Given the description of an element on the screen output the (x, y) to click on. 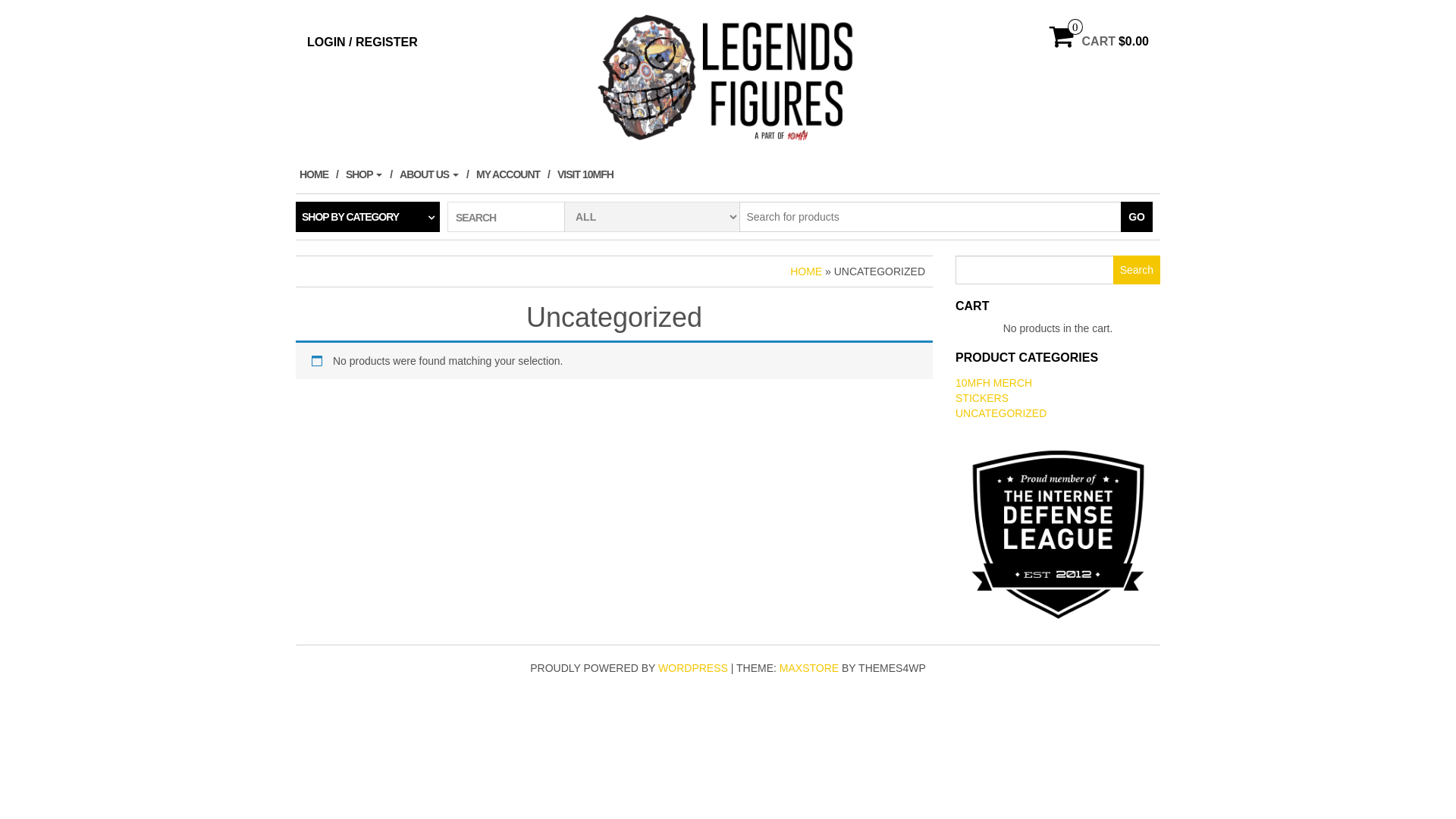
10MFH MERCH Element type: text (993, 382)
SHOP Element type: text (368, 174)
STICKERS Element type: text (981, 398)
HOME Element type: text (318, 174)
10MFH Official Store Element type: hover (727, 77)
ABOUT US Element type: text (433, 174)
WORDPRESS Element type: text (693, 668)
MY ACCOUNT Element type: text (512, 174)
VISIT 10MFH Element type: text (588, 174)
MAXSTORE Element type: text (808, 668)
LOGIN / REGISTER Element type: text (362, 41)
SHOP BY CATEGORY Element type: text (367, 216)
Search Element type: text (1136, 269)
0
CART $0.00 Element type: text (1098, 41)
HOME Element type: text (806, 271)
UNCATEGORIZED Element type: text (1000, 413)
GO Element type: text (1136, 216)
